Given the description of an element on the screen output the (x, y) to click on. 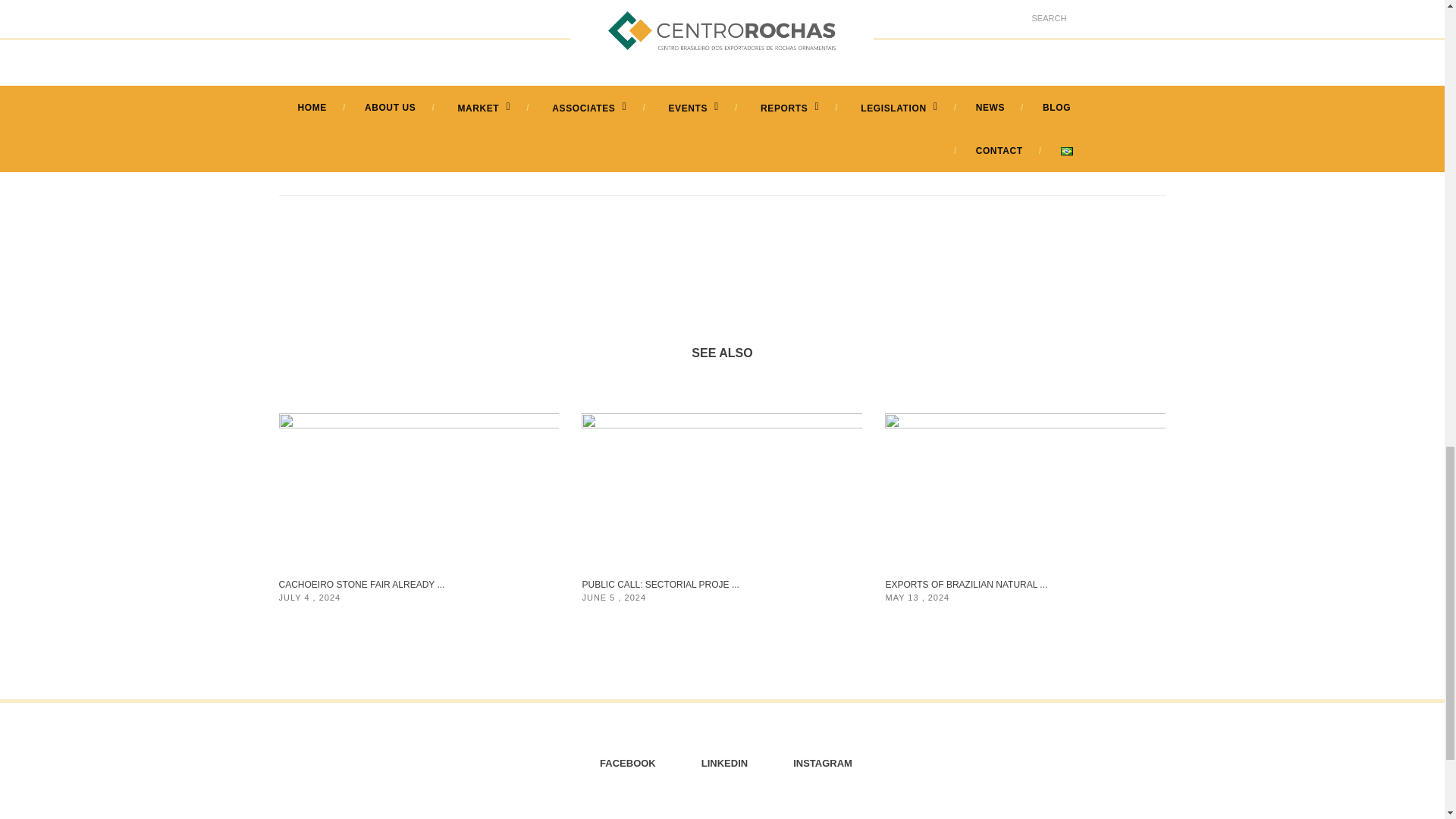
Like (1017, 165)
11 (1017, 165)
